Given the description of an element on the screen output the (x, y) to click on. 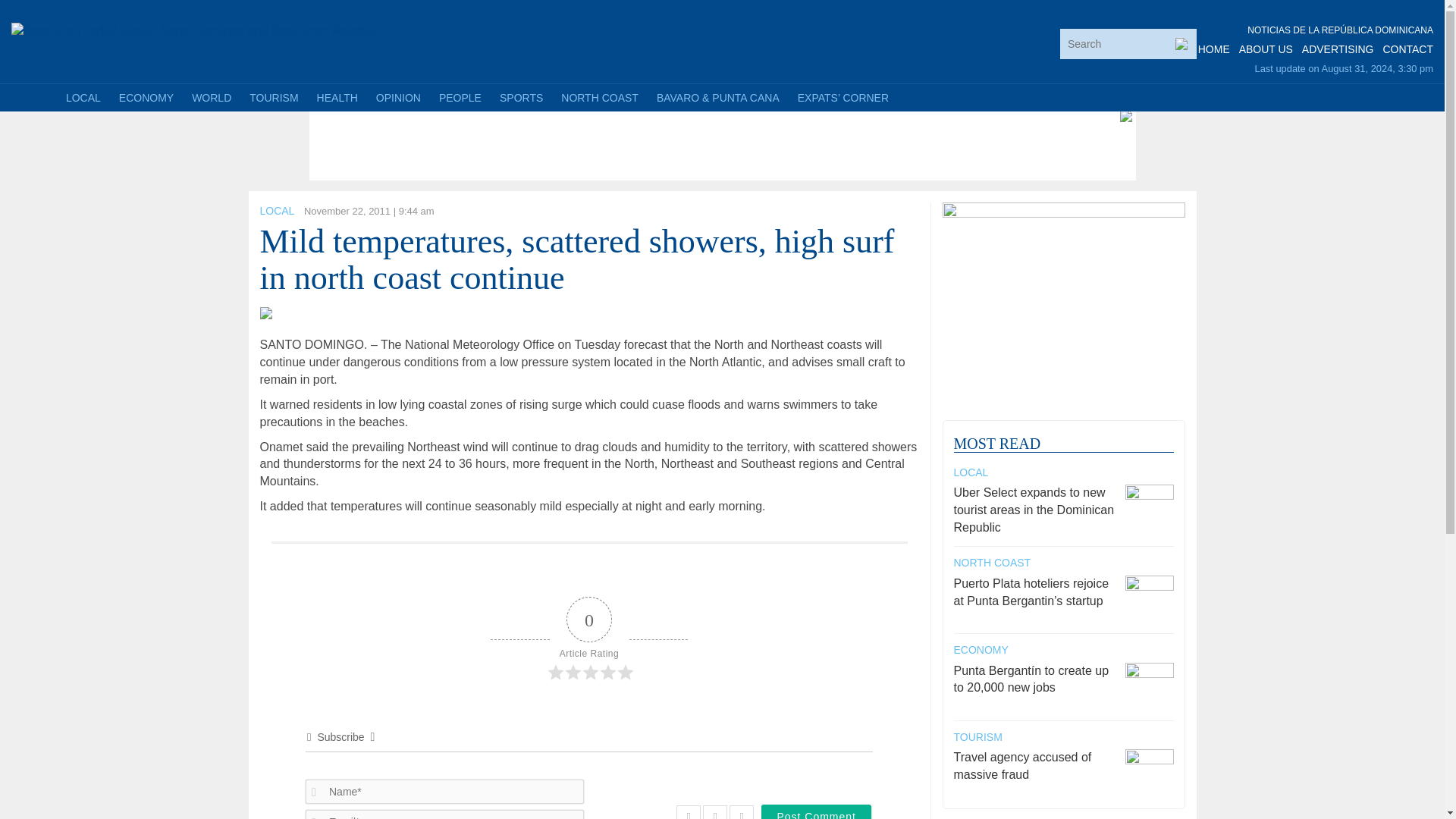
NORTH COAST (599, 97)
Dominican Today News - Santo Domingo and Dominican Republic (194, 30)
Post Comment (815, 811)
ADVERTISING (1337, 49)
SPORTS (520, 97)
PEOPLE (459, 97)
Post Comment (815, 811)
LOCAL (276, 210)
HOME (1214, 49)
LOCAL (83, 97)
